Given the description of an element on the screen output the (x, y) to click on. 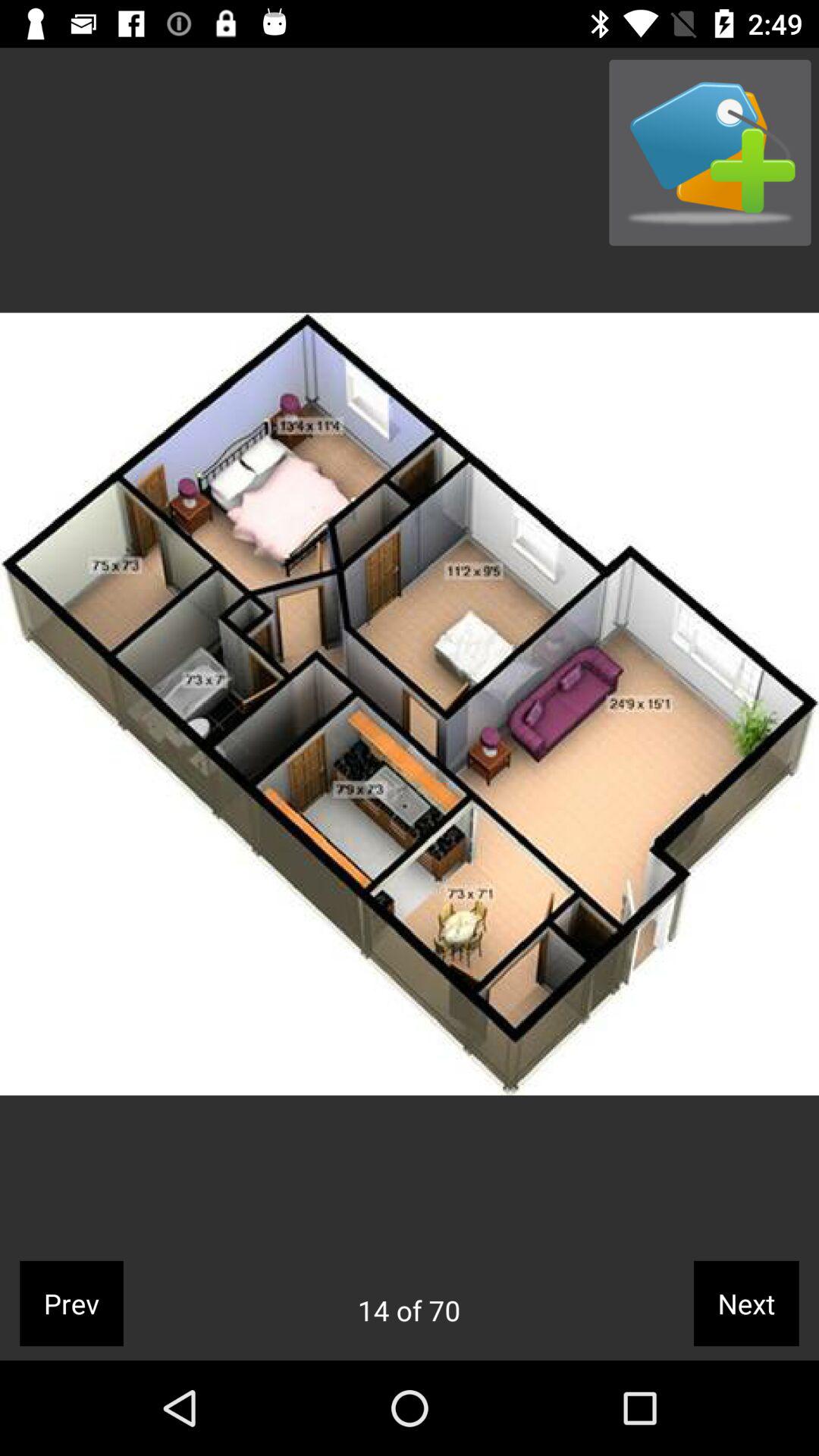
scroll until the 14 of 70 item (408, 1310)
